Given the description of an element on the screen output the (x, y) to click on. 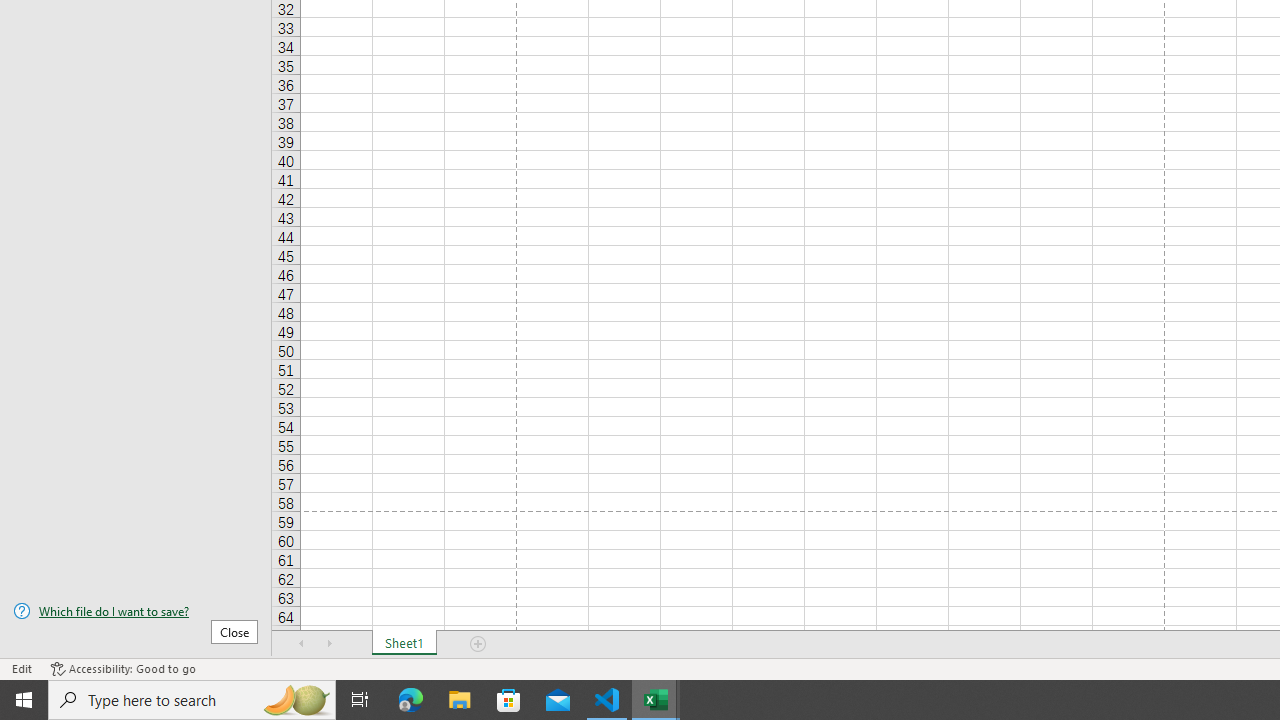
Search highlights icon opens search home window (295, 699)
Type here to search (191, 699)
